Given the description of an element on the screen output the (x, y) to click on. 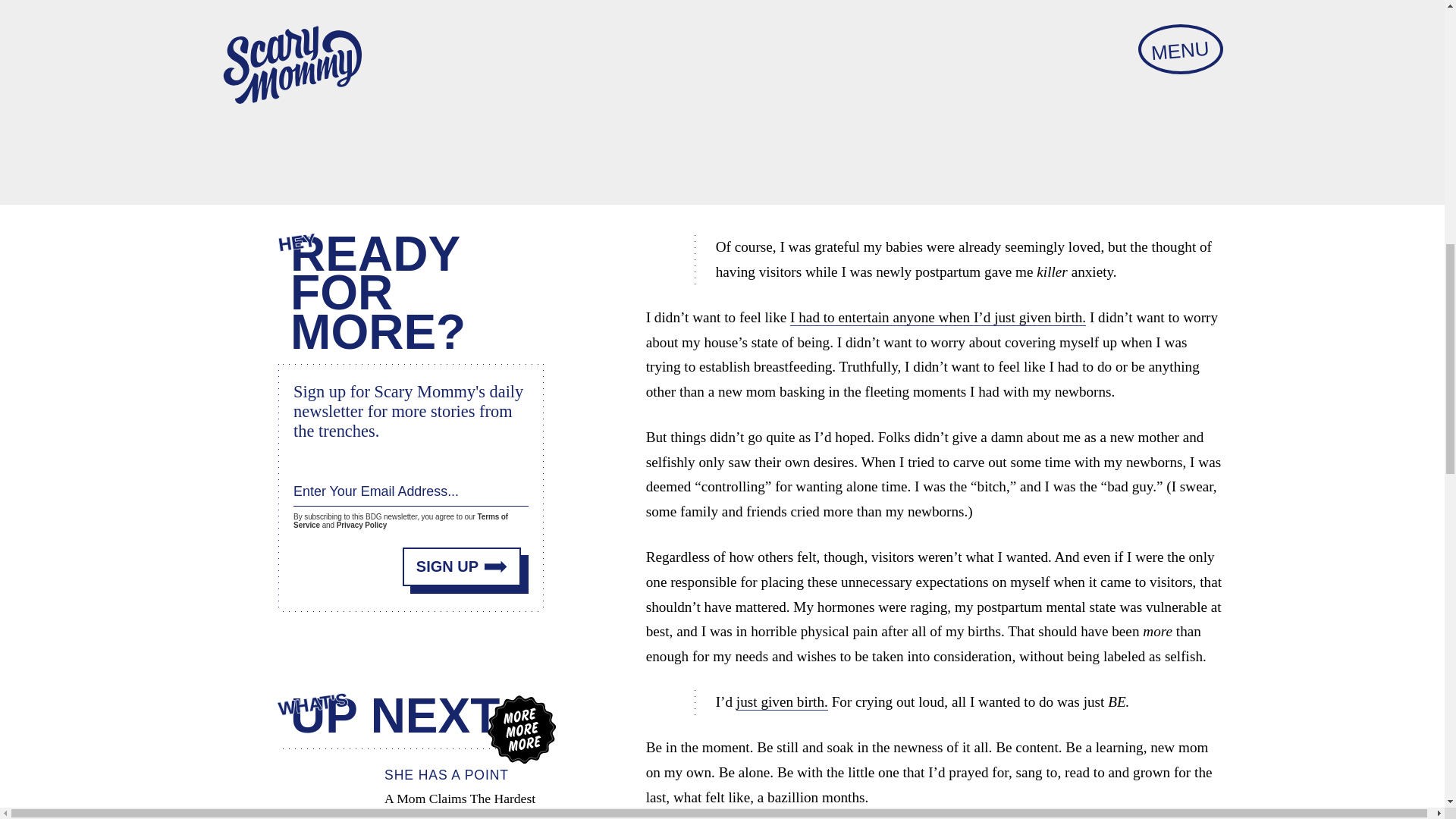
Terms of Service (401, 520)
Privacy Policy (361, 524)
SIGN UP (462, 566)
just given birth. (782, 701)
